Given the description of an element on the screen output the (x, y) to click on. 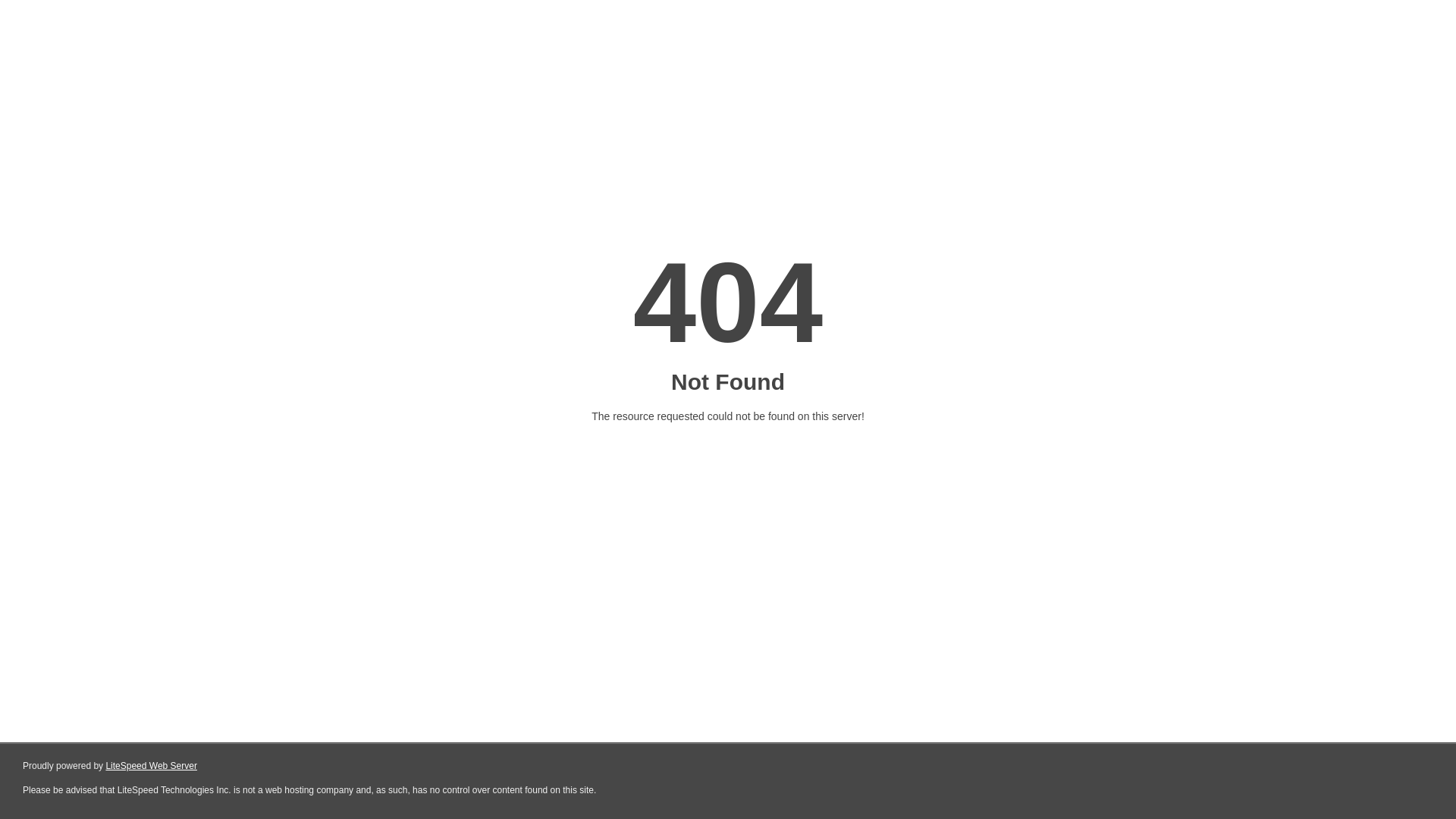
LiteSpeed Web Server Element type: text (151, 765)
